Given the description of an element on the screen output the (x, y) to click on. 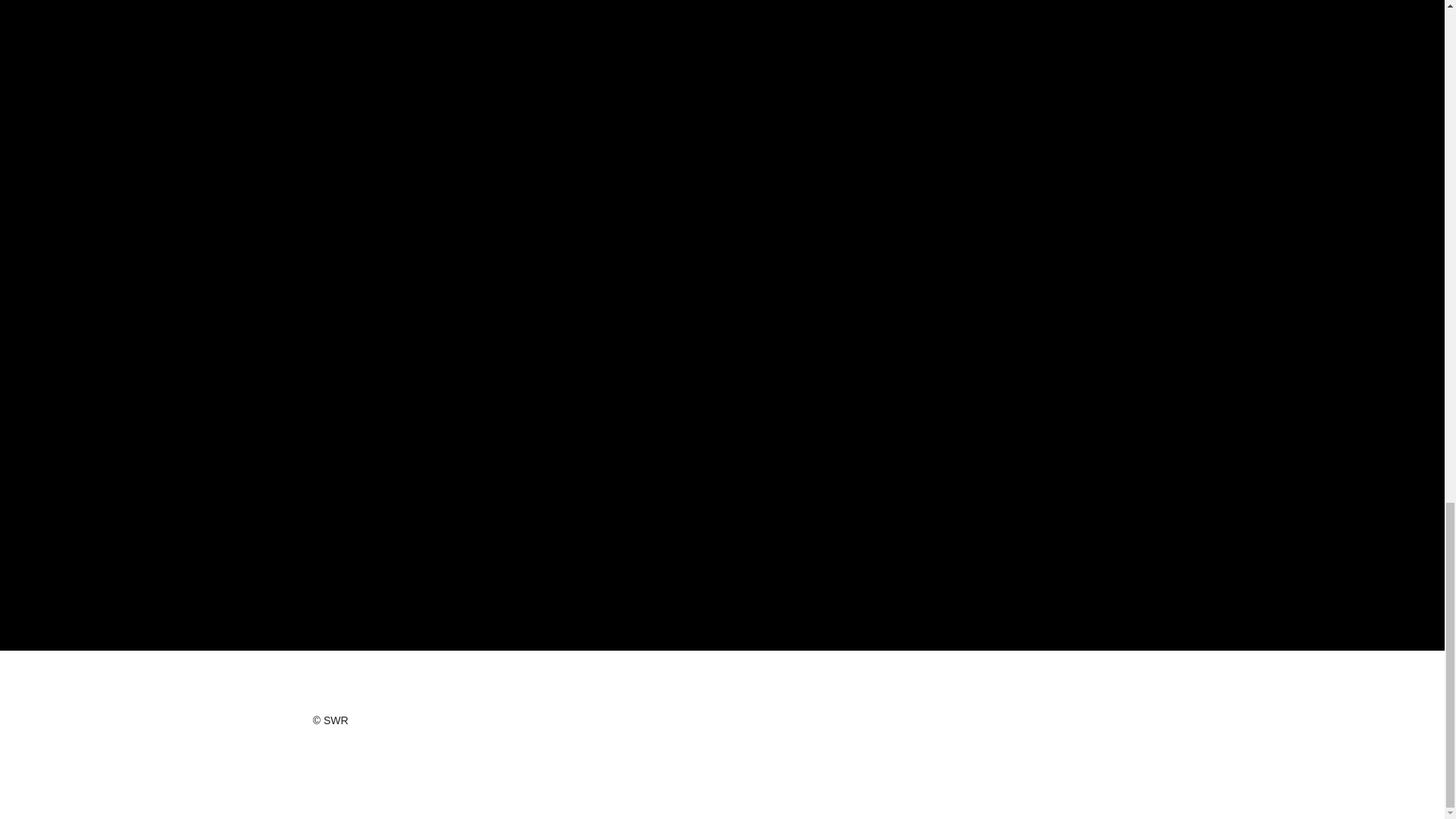
Shipping (1111, 726)
Contact (1112, 749)
Terms (884, 726)
